Given the description of an element on the screen output the (x, y) to click on. 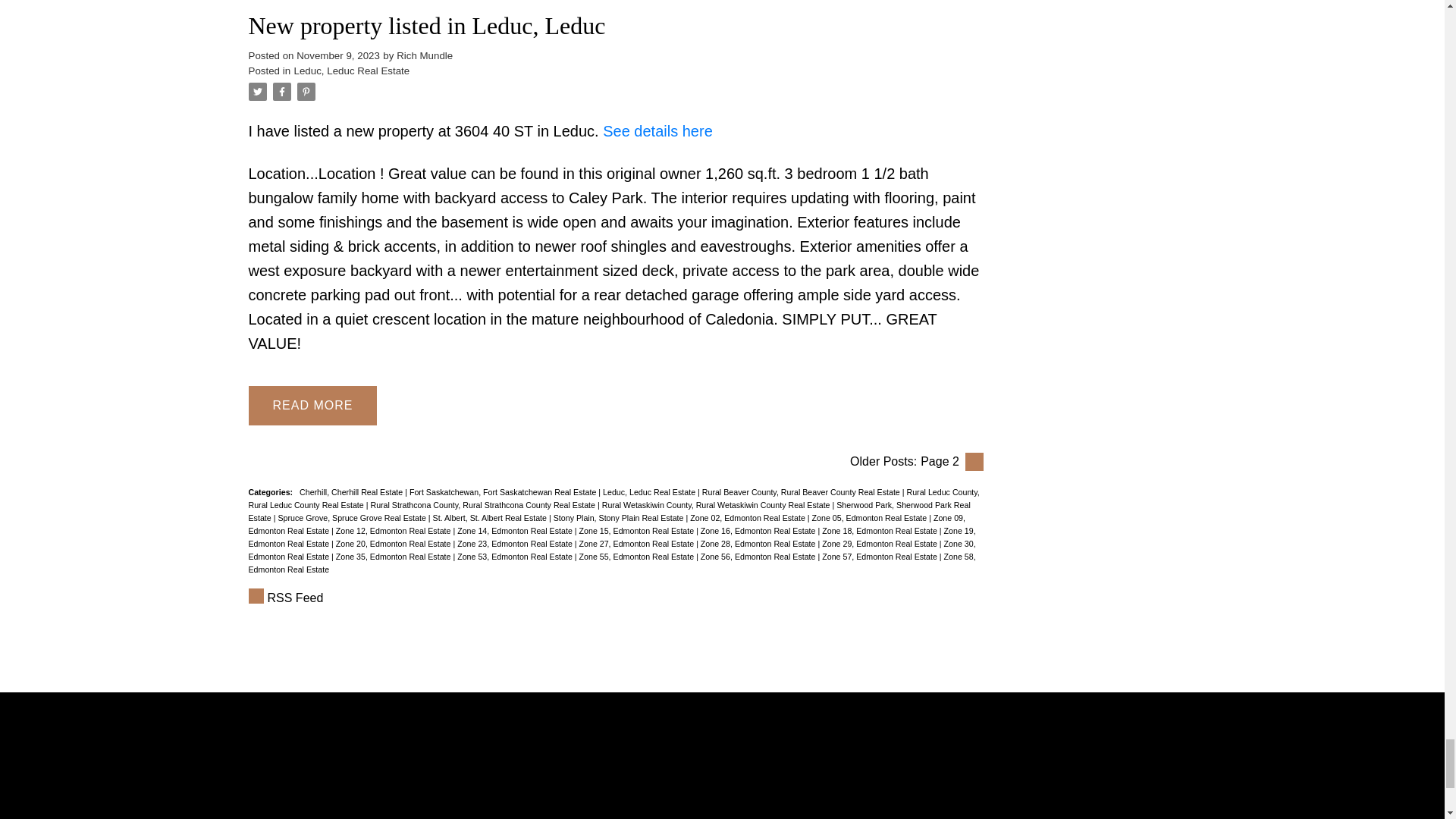
RSS (616, 598)
Read full post (616, 4)
